Given the description of an element on the screen output the (x, y) to click on. 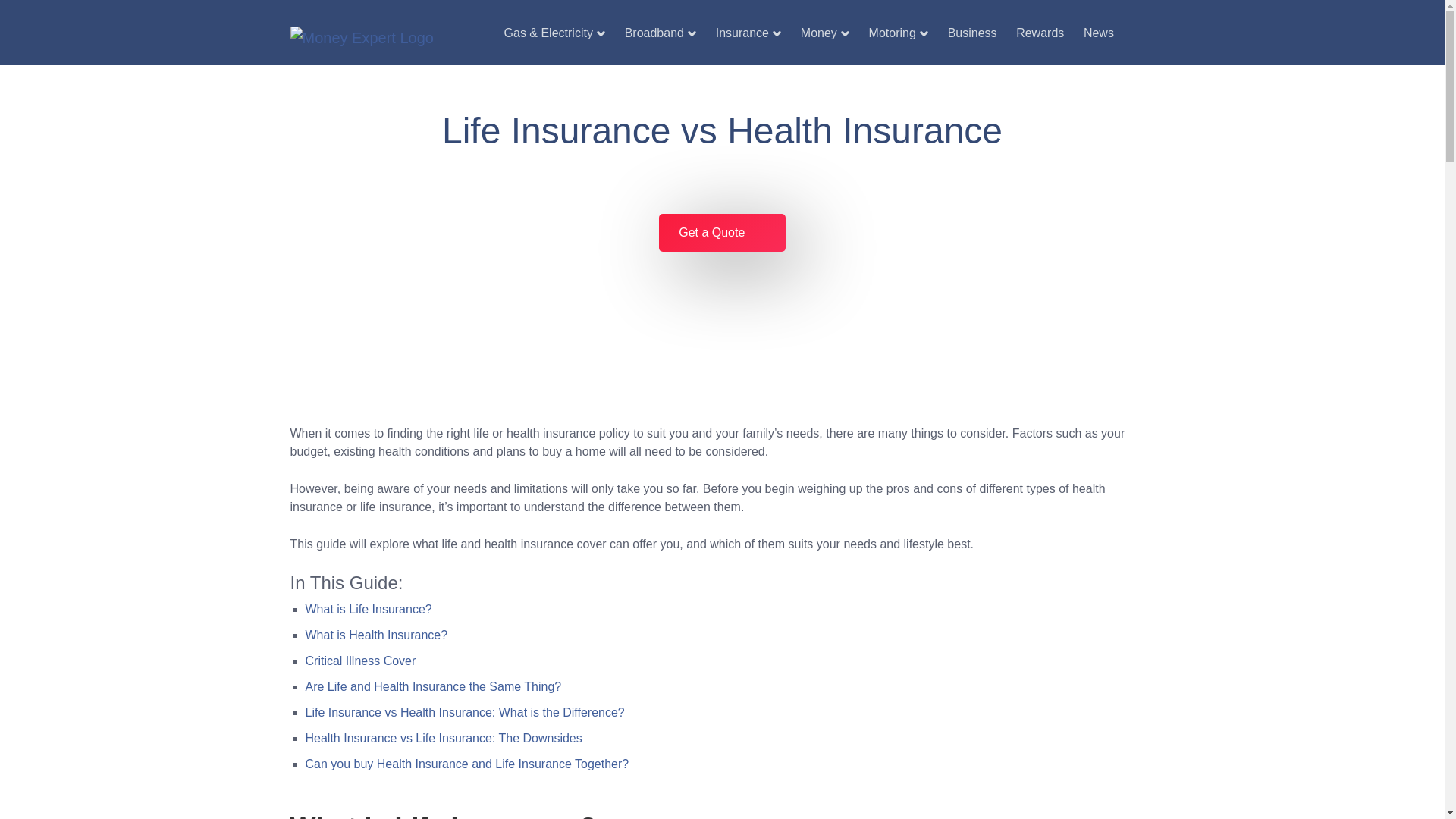
Insurance (748, 33)
Broadband (659, 33)
